Given the description of an element on the screen output the (x, y) to click on. 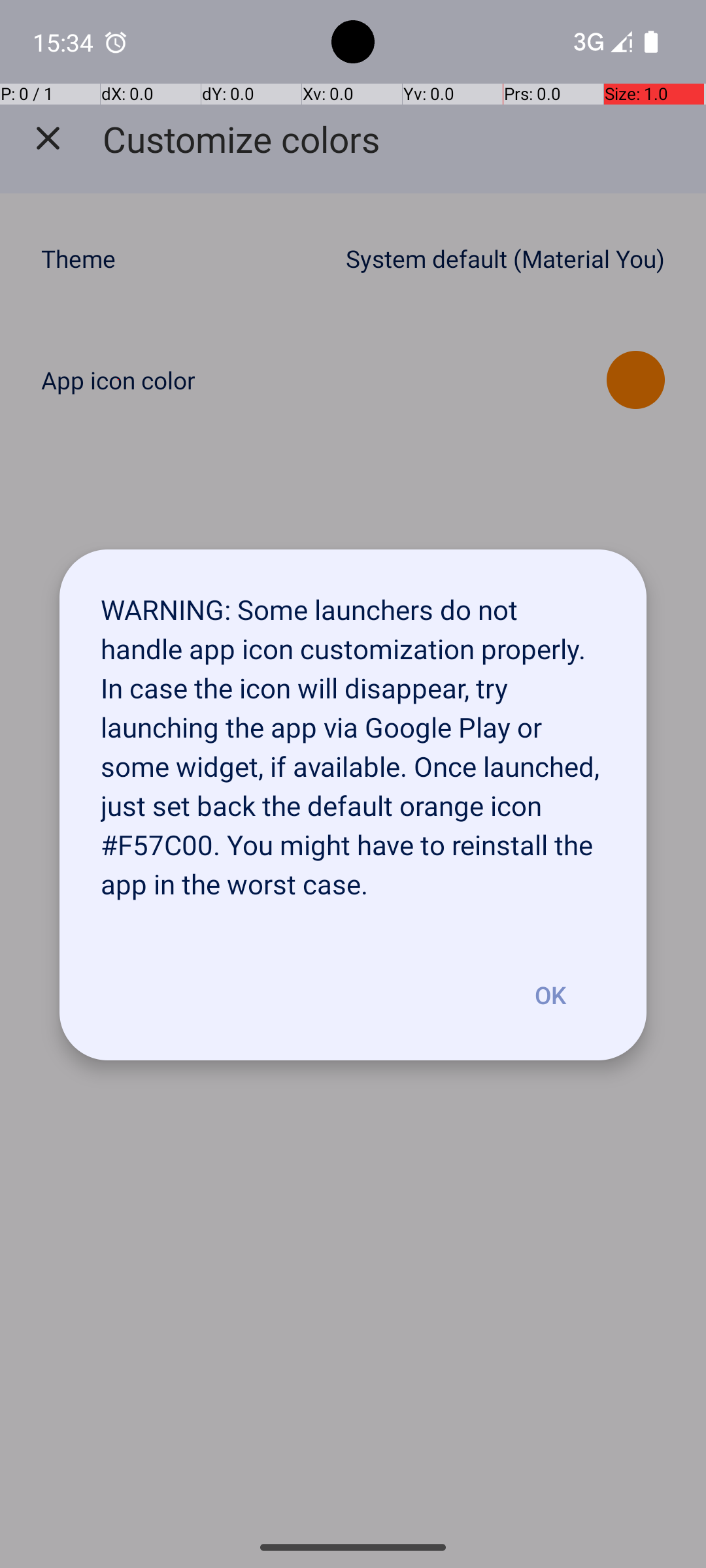
WARNING: Some launchers do not handle app icon customization properly. In case the icon will disappear, try launching the app via Google Play or some widget, if available. Once launched, just set back the default orange icon #F57C00. You might have to reinstall the app in the worst case. Element type: android.widget.TextView (352, 739)
